Given the description of an element on the screen output the (x, y) to click on. 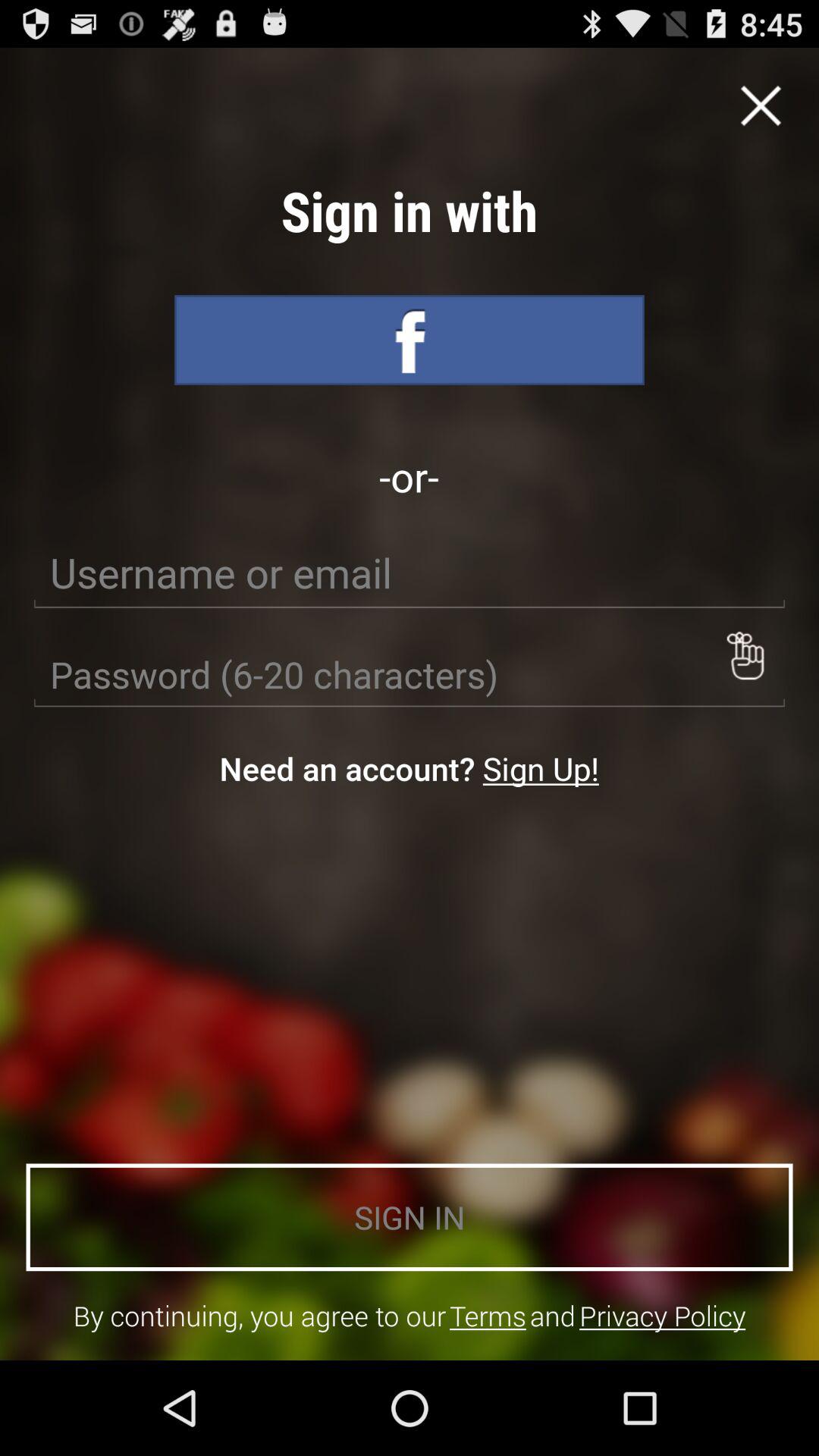
sign in with facebook (409, 340)
